Given the description of an element on the screen output the (x, y) to click on. 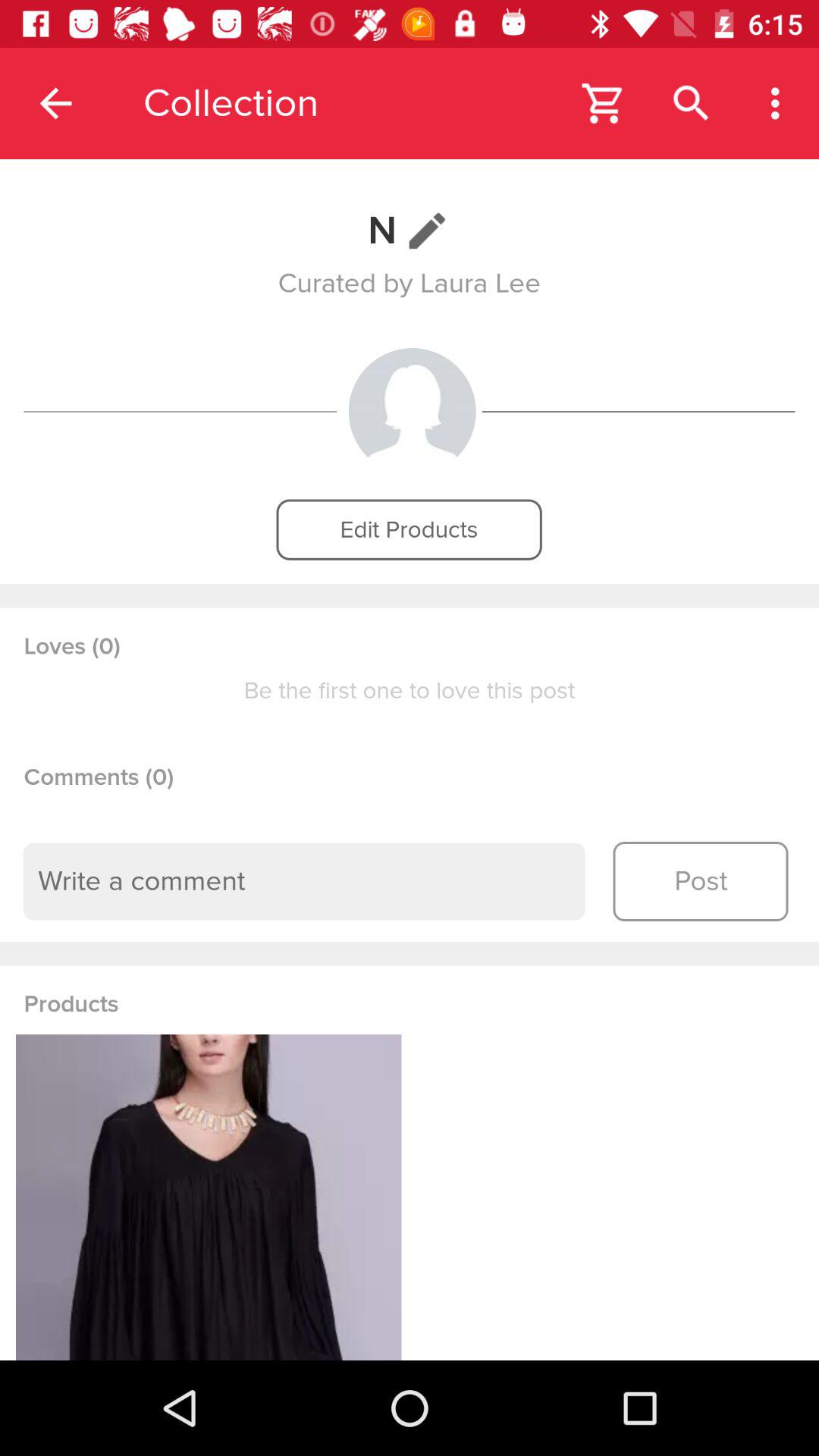
choose icon to the left of the collection app (55, 103)
